Given the description of an element on the screen output the (x, y) to click on. 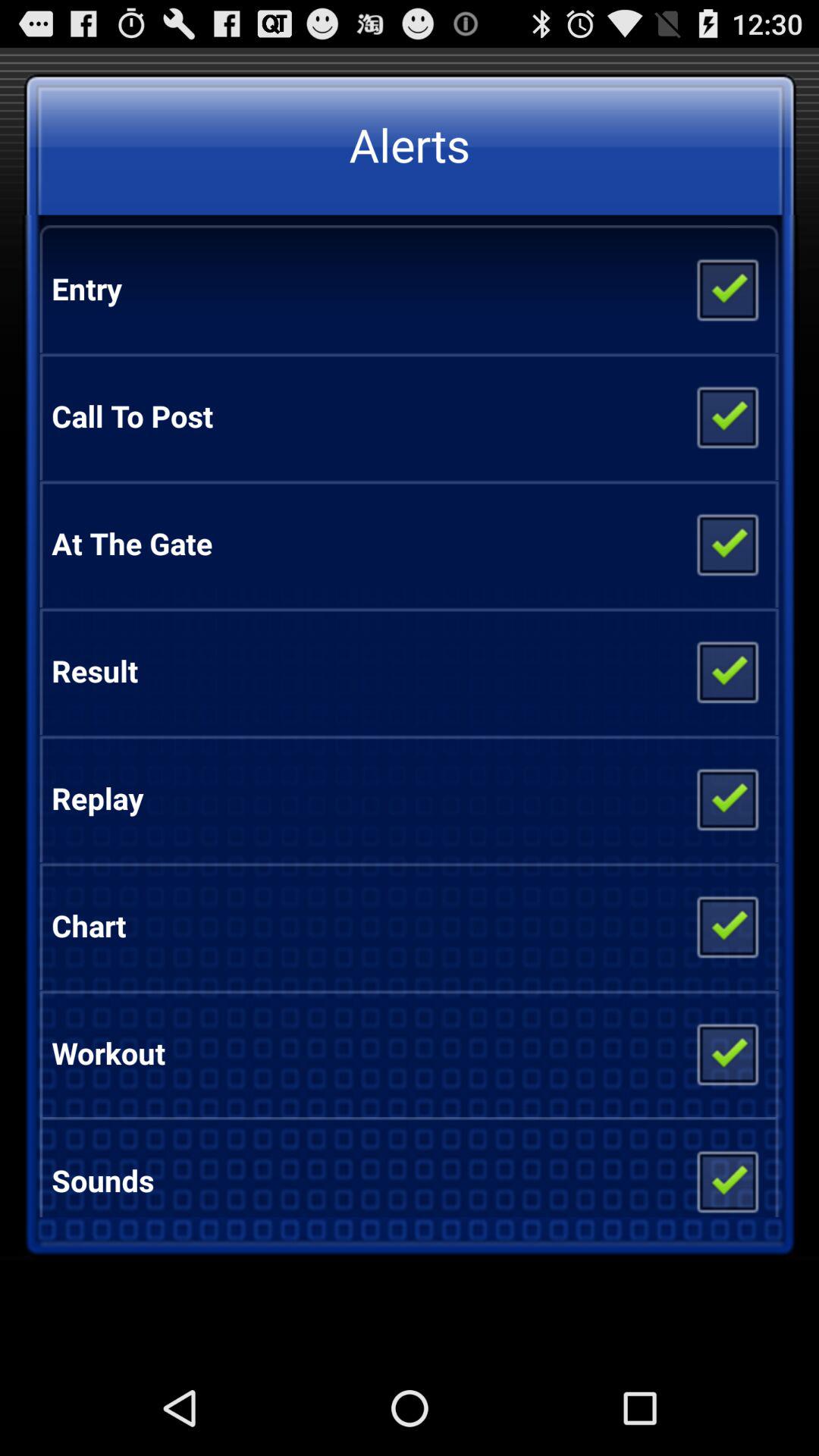
selected (726, 1053)
